Given the description of an element on the screen output the (x, y) to click on. 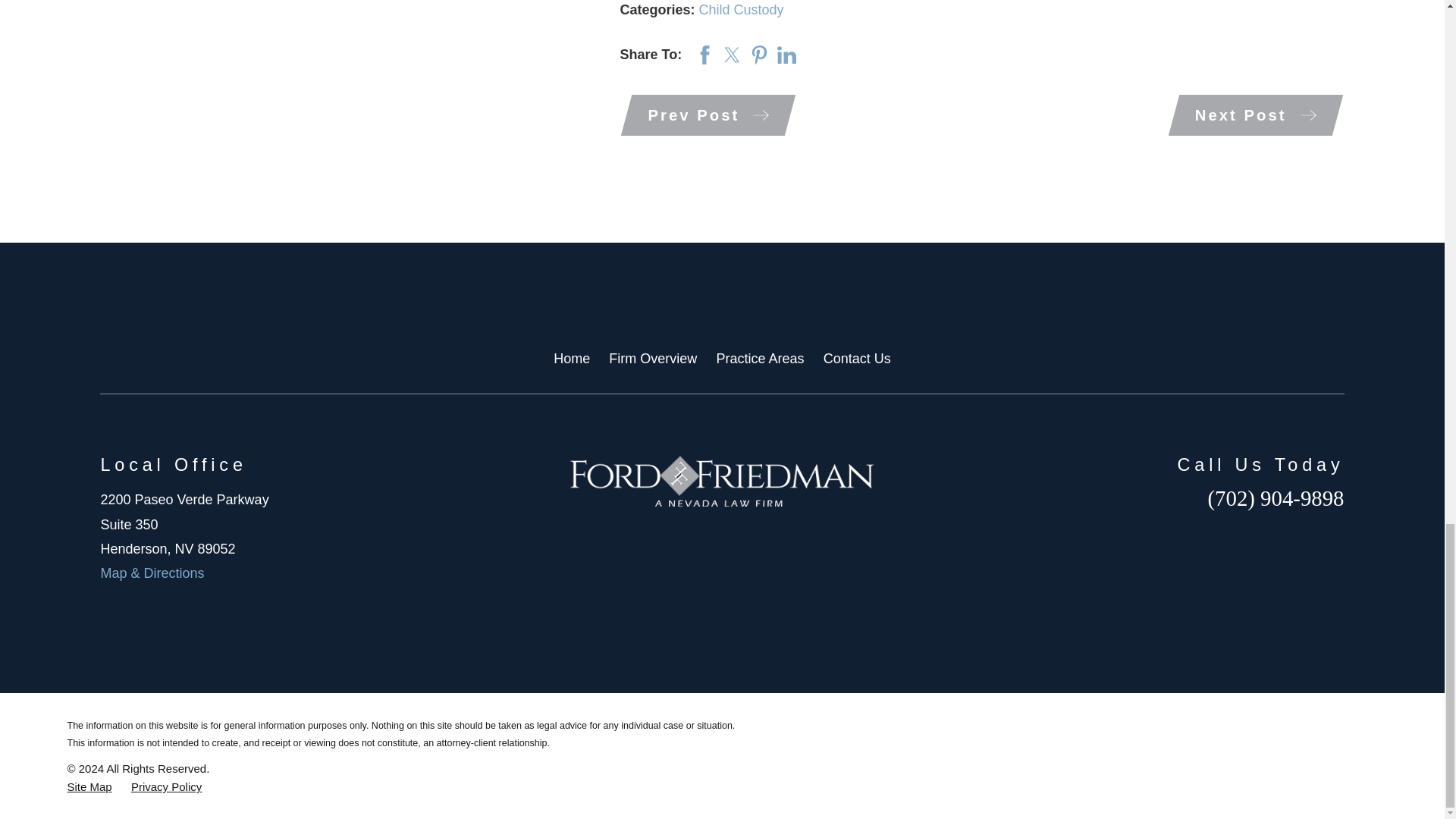
Home (721, 480)
